Given the description of an element on the screen output the (x, y) to click on. 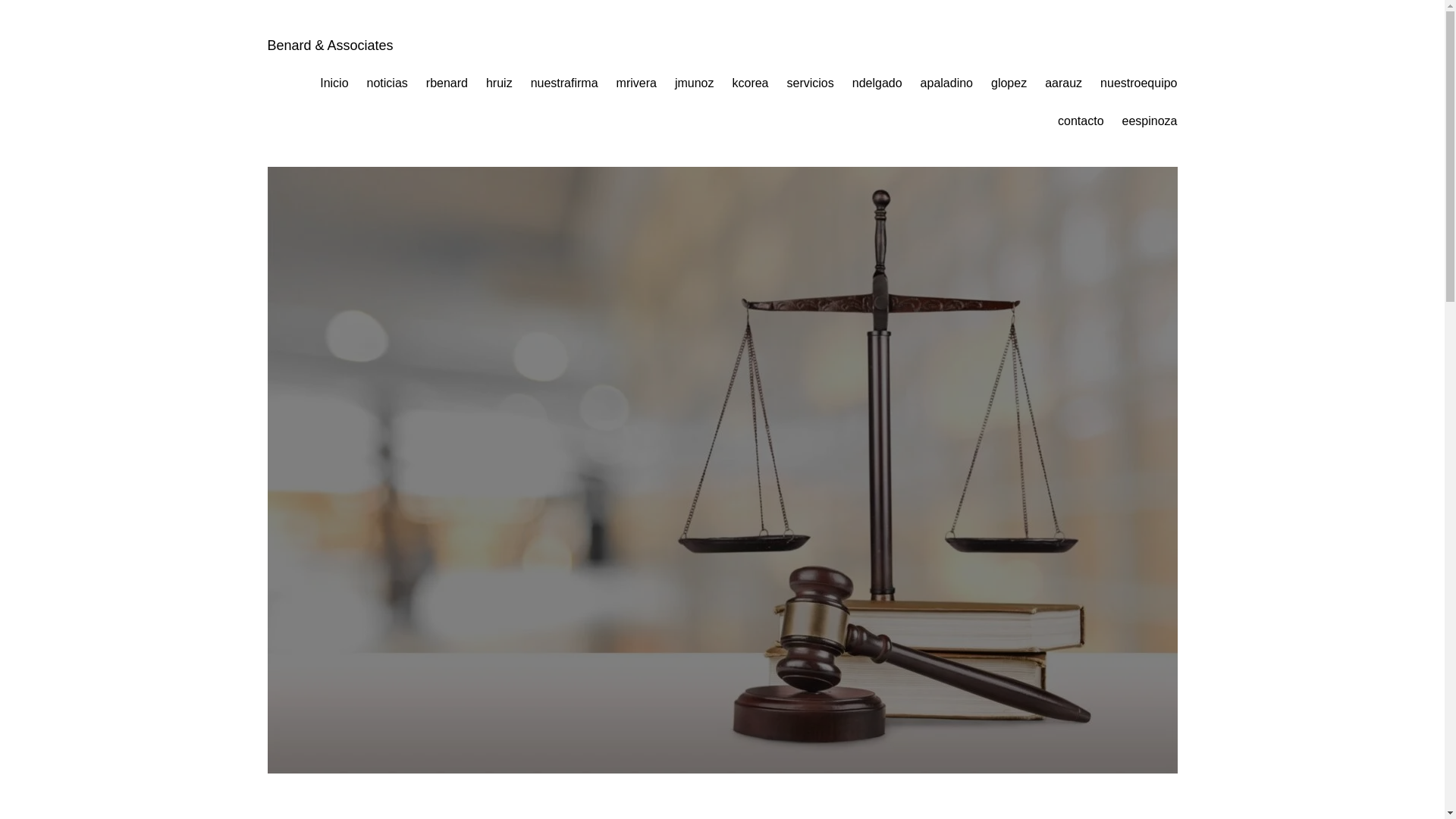
nuestrafirma (564, 83)
contacto (1080, 121)
ndelgado (876, 83)
glopez (1008, 83)
servicios (810, 83)
Inicio (333, 83)
hruiz (499, 83)
nuestroequipo (1138, 83)
eespinoza (1149, 121)
mrivera (635, 83)
